Given the description of an element on the screen output the (x, y) to click on. 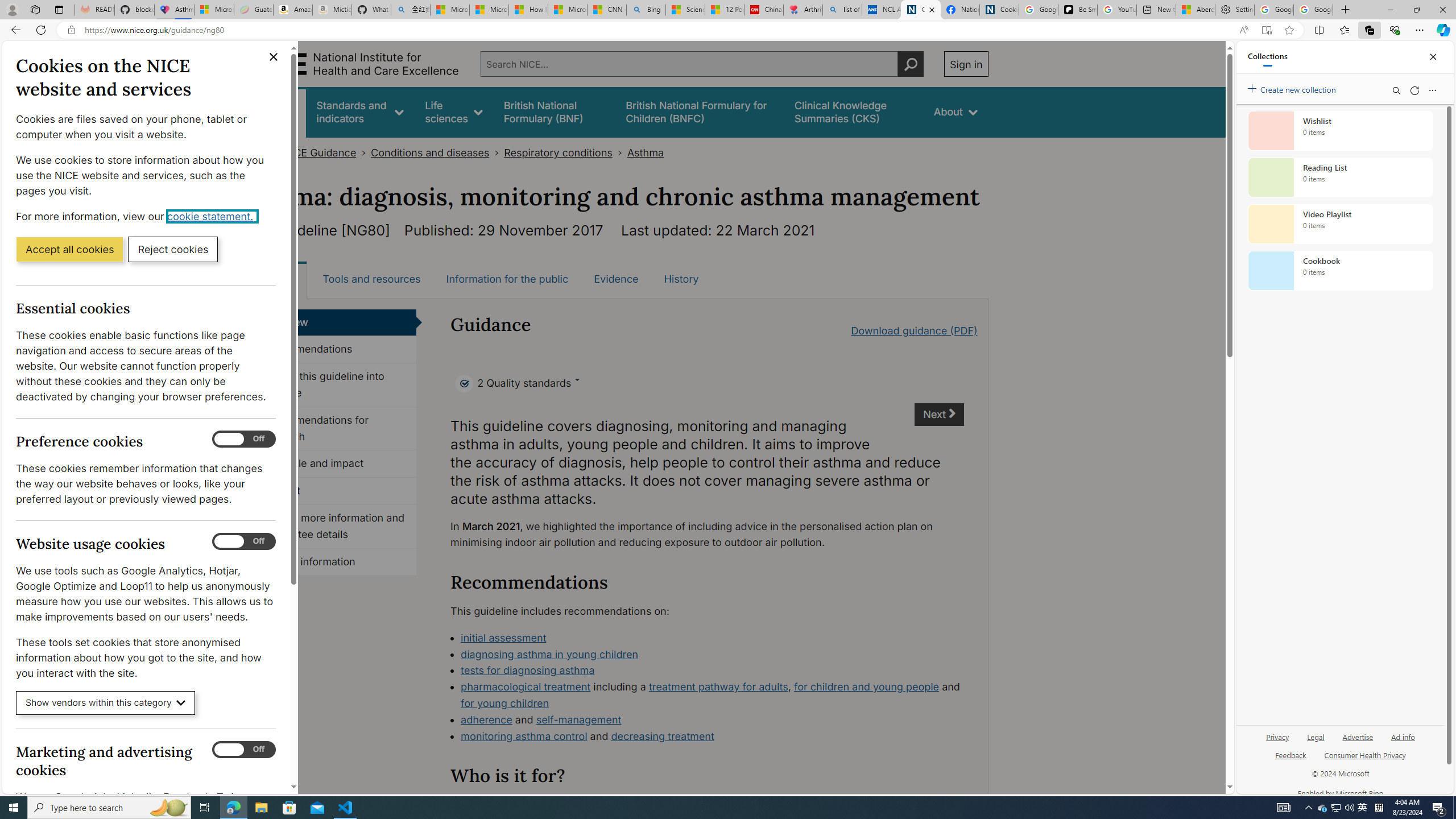
Conditions and diseases> (437, 152)
cookie statement. (Opens in a new window) (211, 215)
Wishlist collection, 0 items (1339, 130)
Video Playlist collection, 0 items (1339, 223)
Conditions and diseases (430, 152)
Information for the public (507, 279)
Next chapter (938, 414)
CNN - MSN (606, 9)
Finding more information and committee details (333, 526)
Accept all cookies (69, 248)
